Given the description of an element on the screen output the (x, y) to click on. 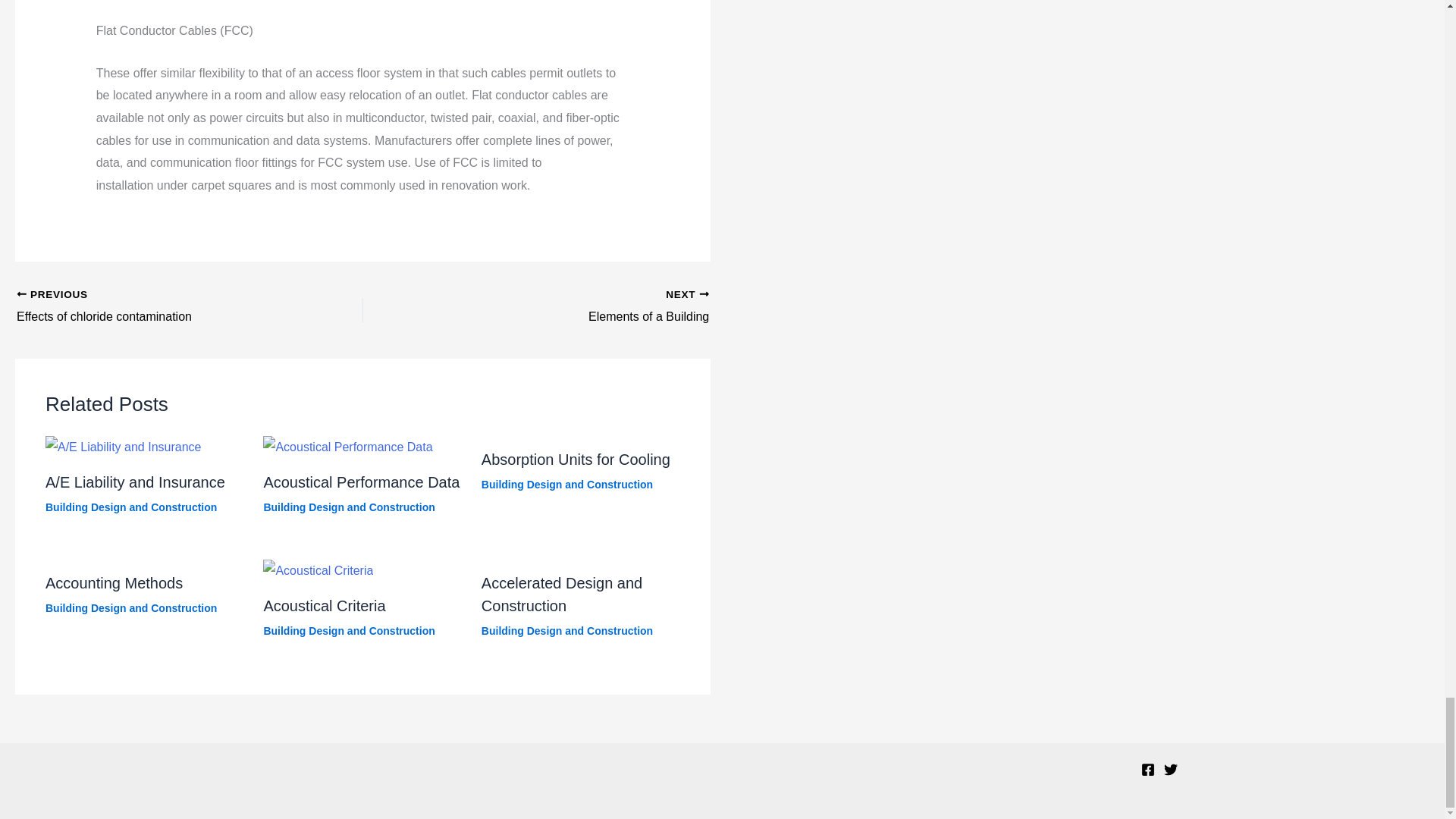
Elements of a Building (569, 306)
Effects of chloride contamination (155, 306)
